Given the description of an element on the screen output the (x, y) to click on. 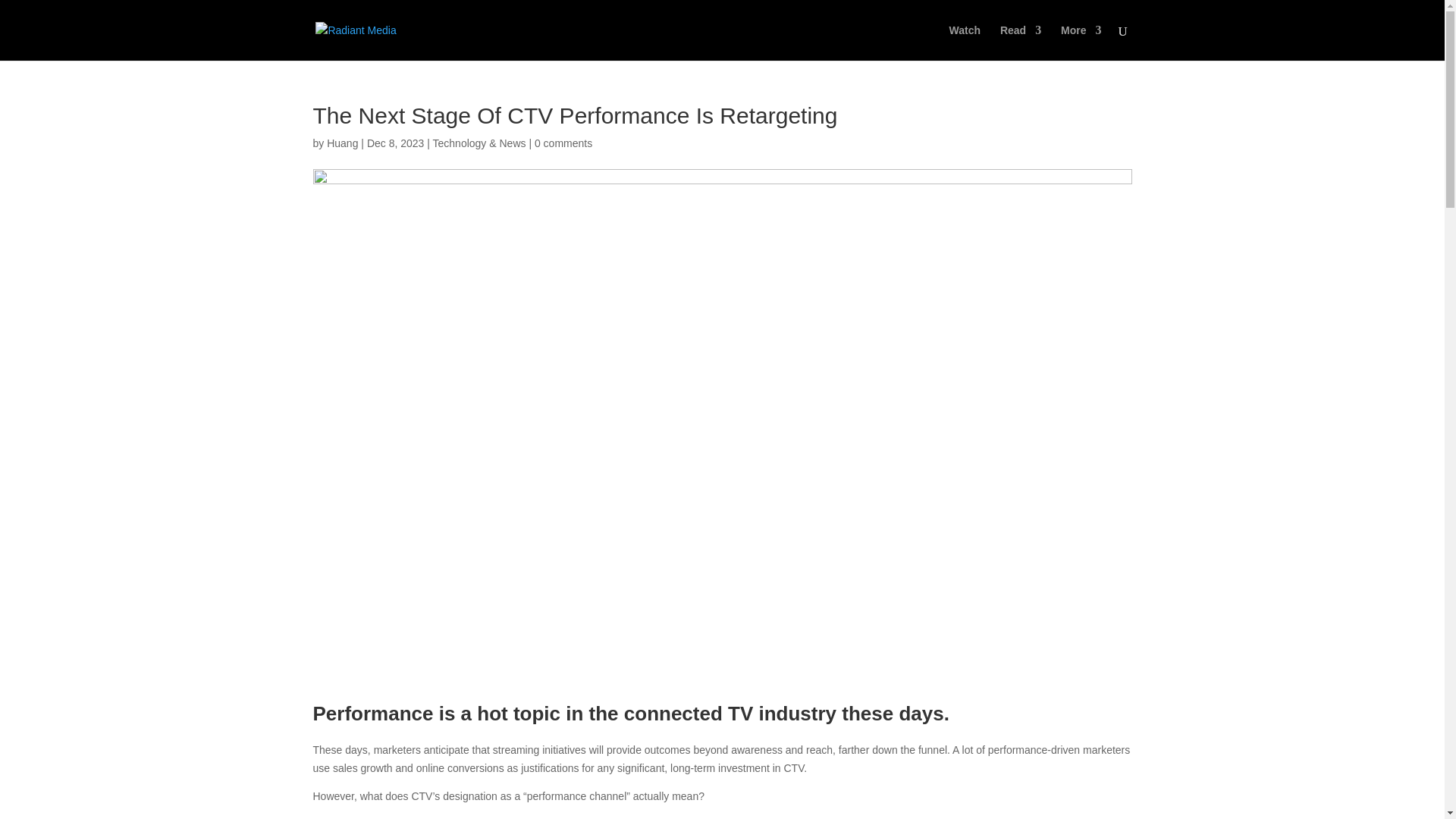
More (1080, 42)
Posts by Huang (342, 143)
Read (1020, 42)
Huang (342, 143)
0 comments (563, 143)
